Given the description of an element on the screen output the (x, y) to click on. 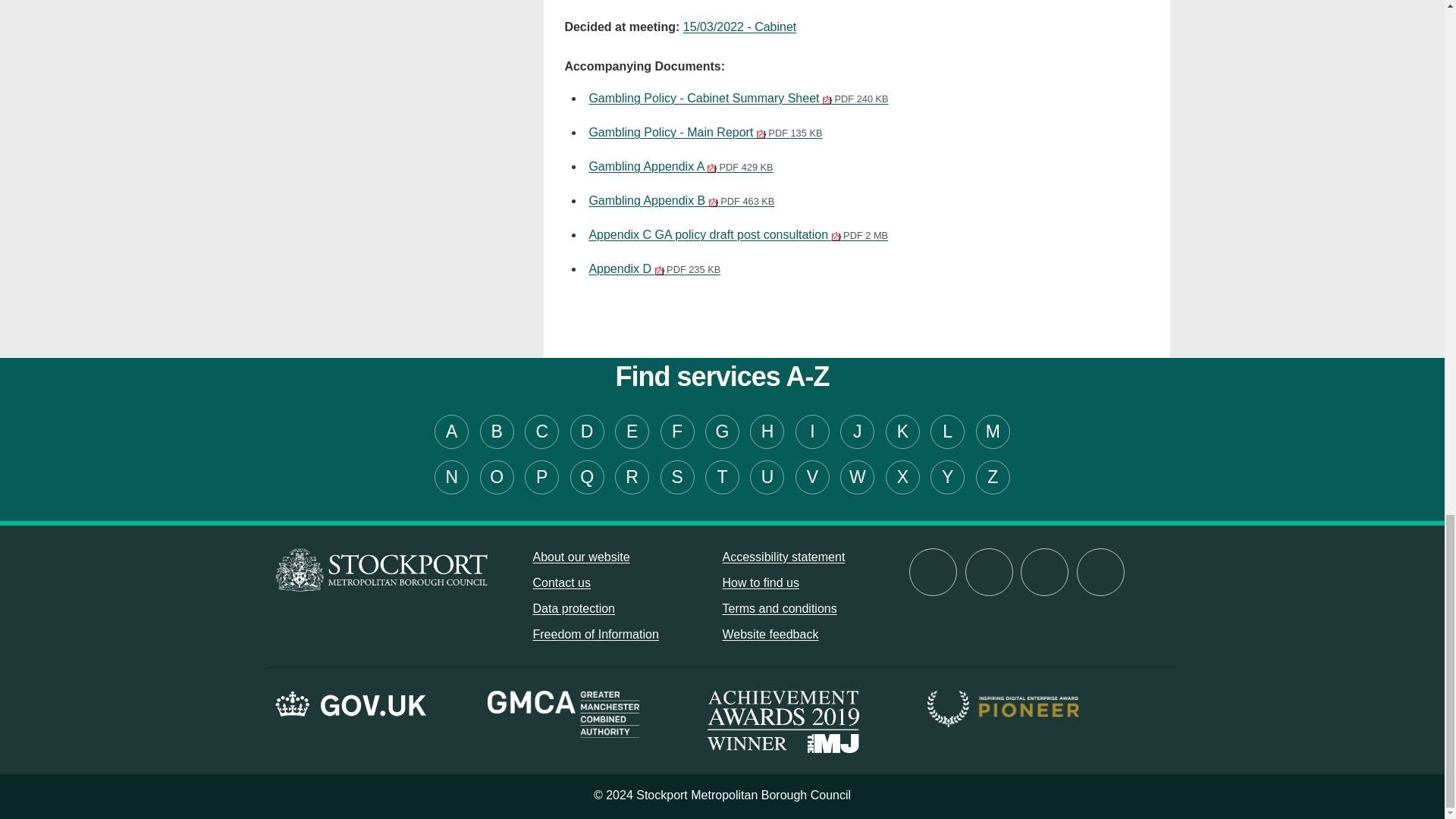
Appendix D PDF 235 KB (654, 268)
Link to file Gambling Appendix A (680, 165)
Link to file Gambling Policy - Main Report (705, 132)
Gambling Appendix B PDF 463 KB (681, 200)
Appendix C GA policy draft post consultation PDF 2 MB (738, 234)
Link to file Appendix C GA policy draft post consultation (738, 234)
Gambling Policy - Main Report PDF 135 KB (705, 132)
Gambling Policy - Cabinet Summary Sheet PDF 240 KB (738, 97)
Link to file Gambling Appendix B (681, 200)
Gambling Appendix A PDF 429 KB (680, 165)
Link to file Appendix D (654, 268)
A (450, 431)
Link to file Gambling Policy - Cabinet Summary Sheet (738, 97)
